Given the description of an element on the screen output the (x, y) to click on. 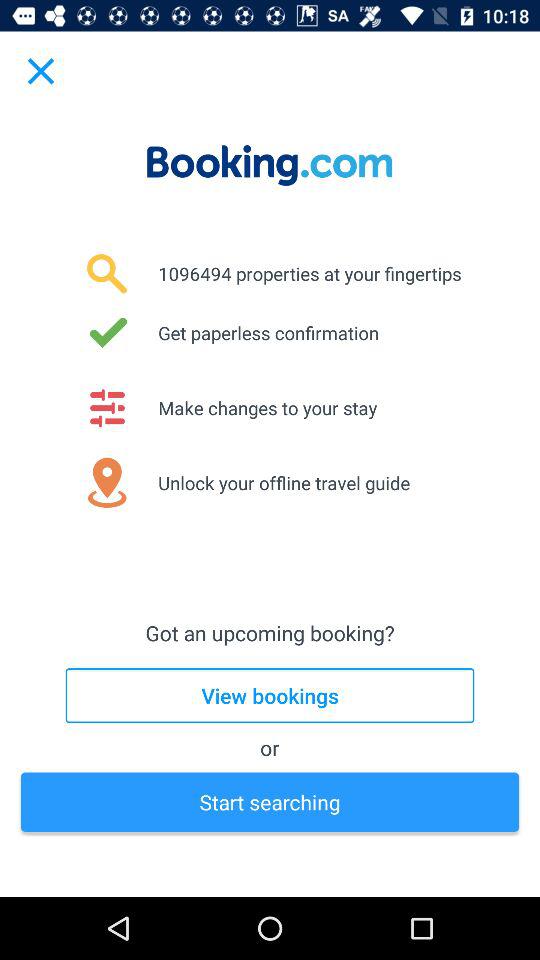
open item below the or (270, 801)
